Given the description of an element on the screen output the (x, y) to click on. 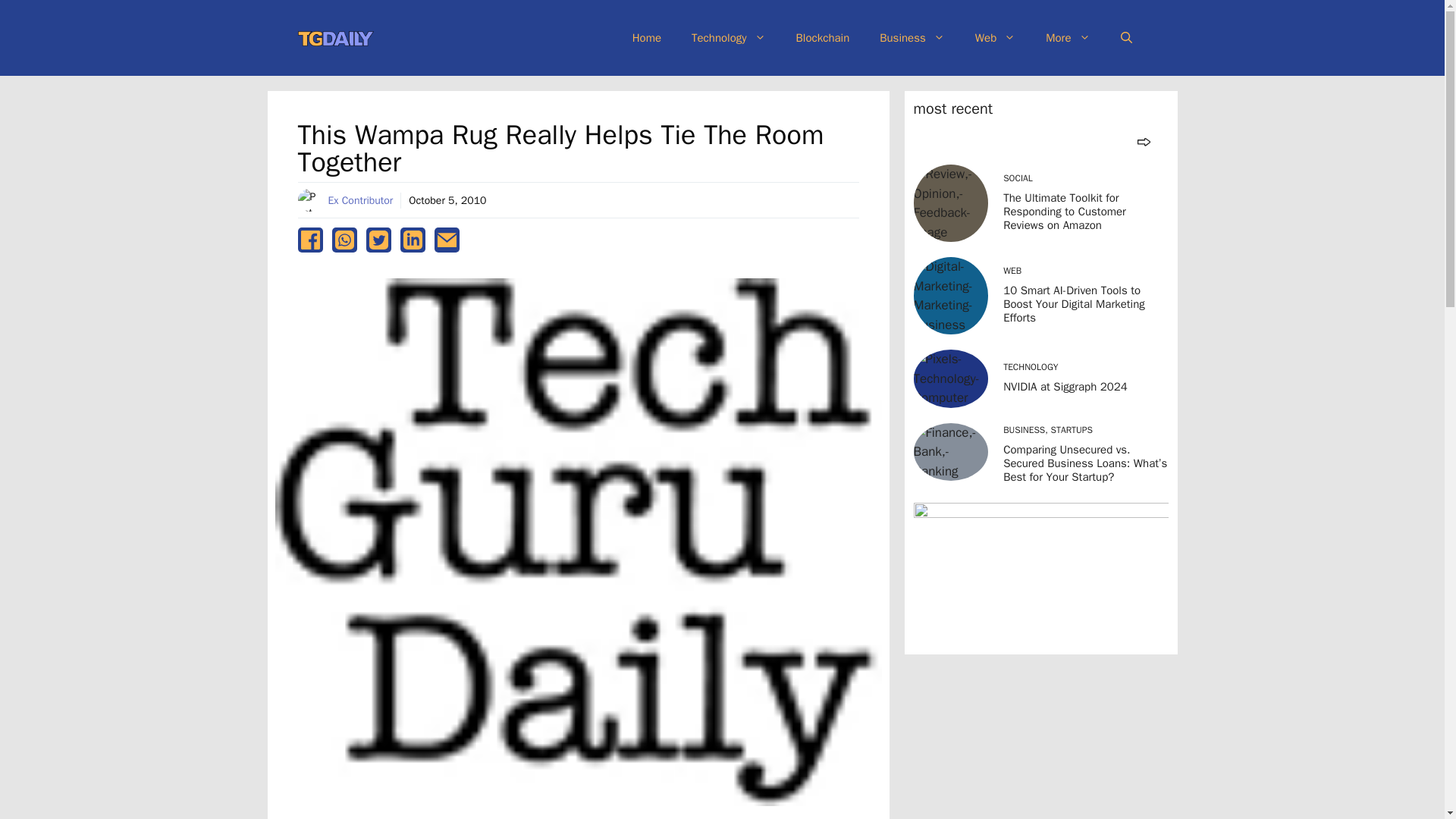
Web (994, 37)
More (1067, 37)
Business (911, 37)
Blockchain (822, 37)
Home (647, 37)
purple-600x400-1 (1039, 573)
Technology (728, 37)
